Given the description of an element on the screen output the (x, y) to click on. 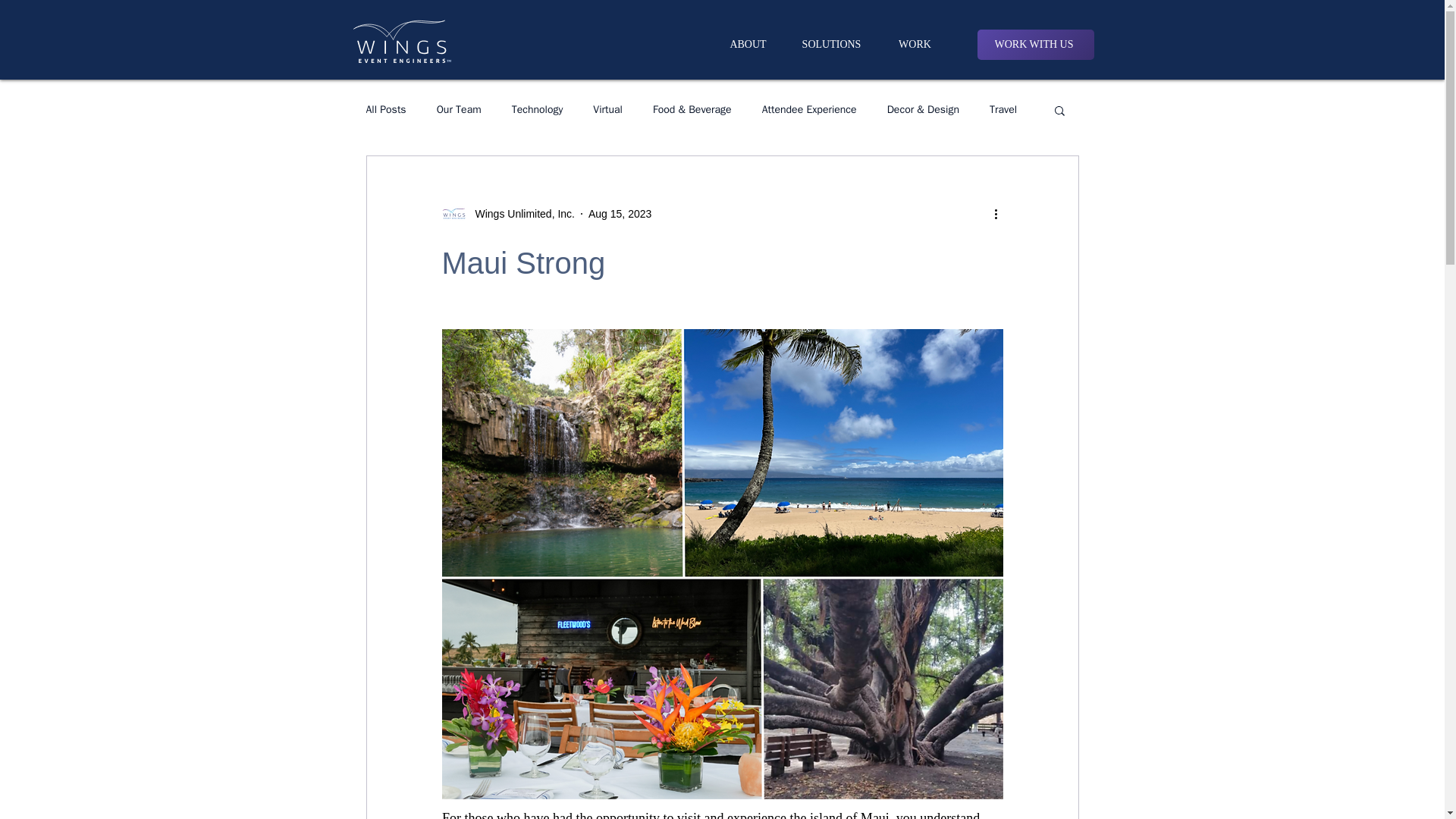
SOLUTIONS (831, 44)
WORK WITH US (1034, 44)
Our Team (458, 110)
WORK (914, 44)
Technology (537, 110)
ABOUT (748, 44)
Wings Unlimited, Inc. (519, 213)
Aug 15, 2023 (619, 214)
All Posts (385, 110)
Travel (1003, 110)
